Given the description of an element on the screen output the (x, y) to click on. 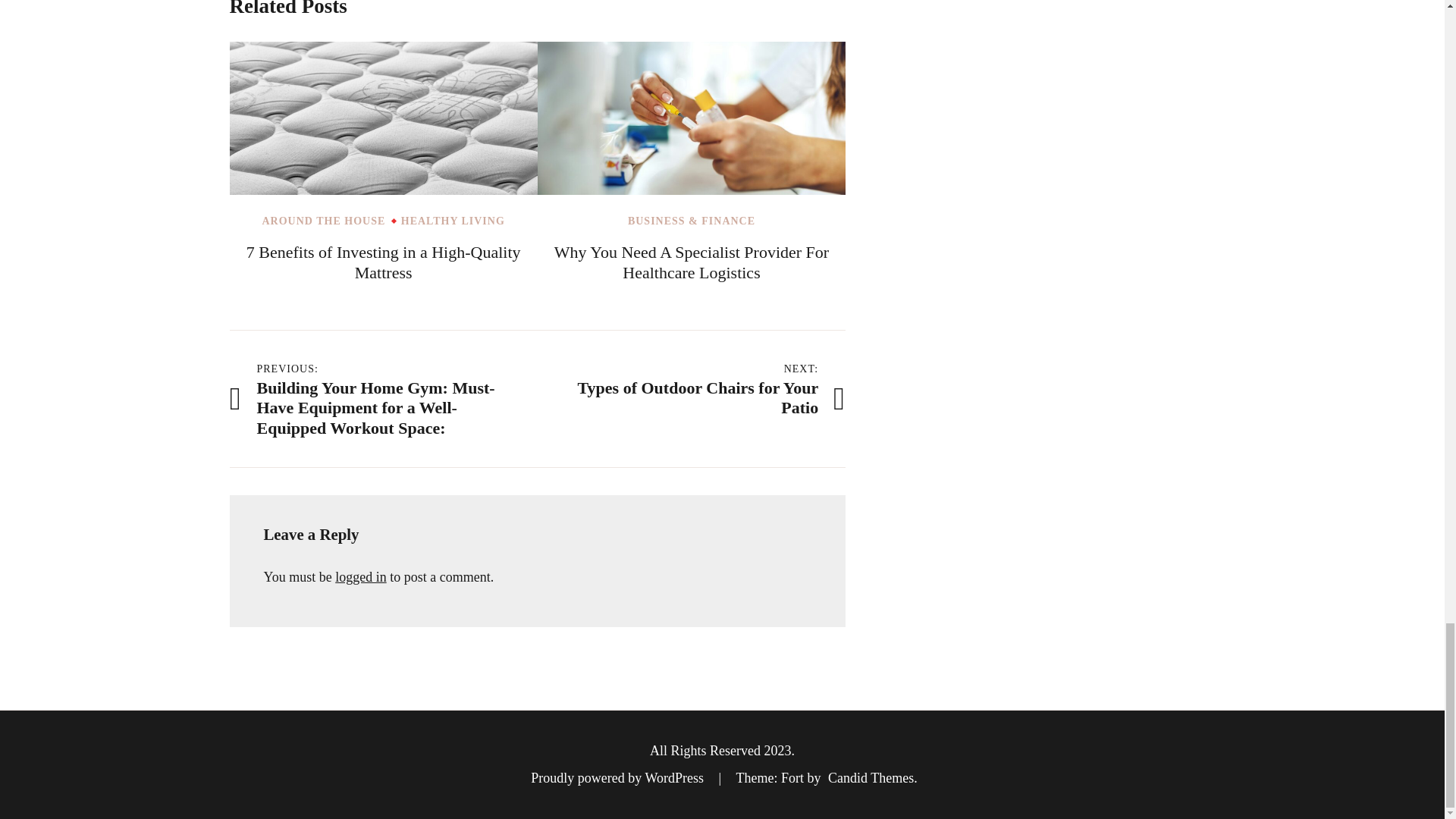
HEALTHY LIVING (452, 221)
7 Benefits of Investing in a High-Quality Mattress (383, 262)
Why You Need A Specialist Provider For Healthcare Logistics (691, 262)
AROUND THE HOUSE (323, 221)
